Given the description of an element on the screen output the (x, y) to click on. 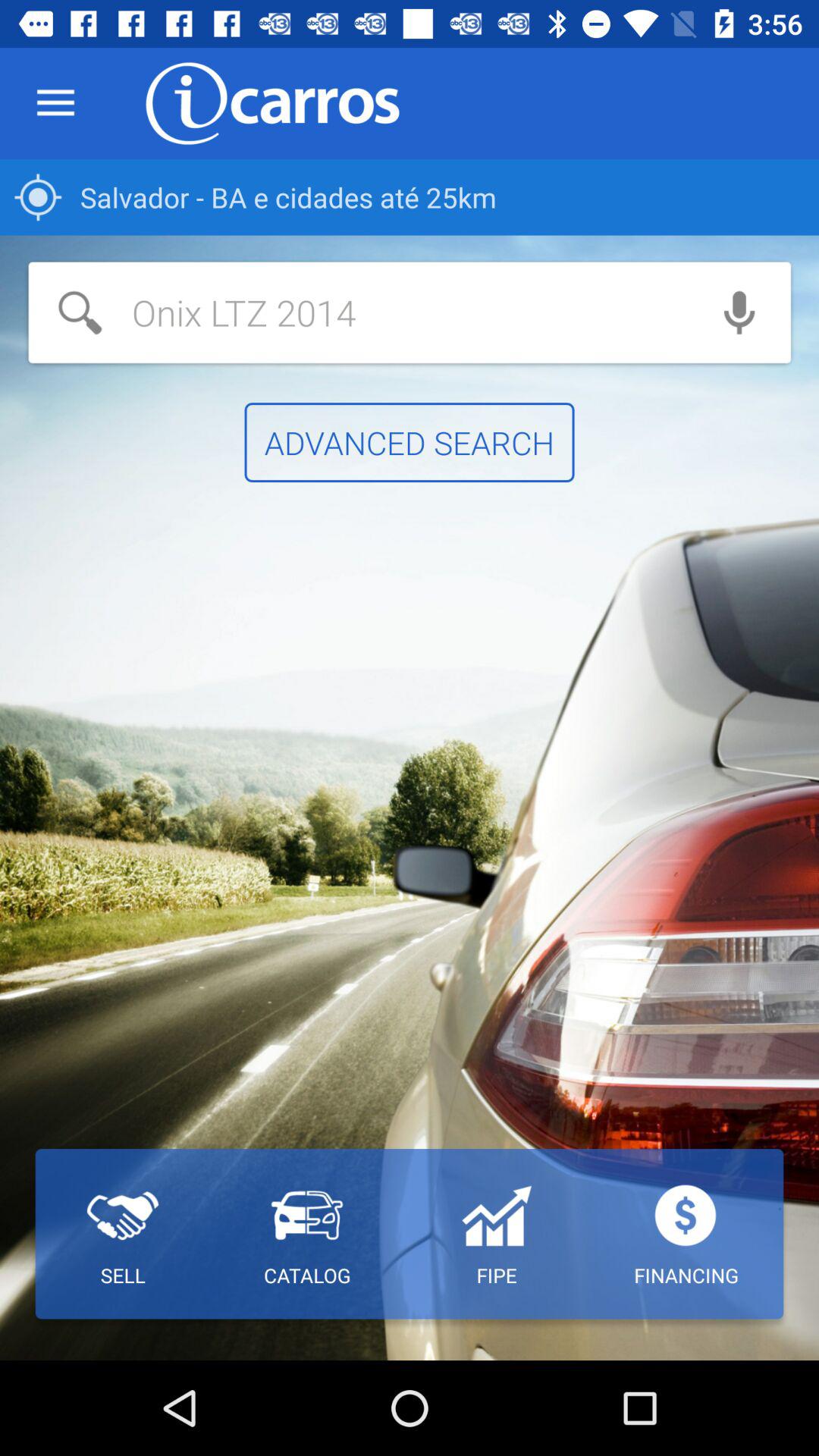
turn on icon to the left of catalog (122, 1233)
